Given the description of an element on the screen output the (x, y) to click on. 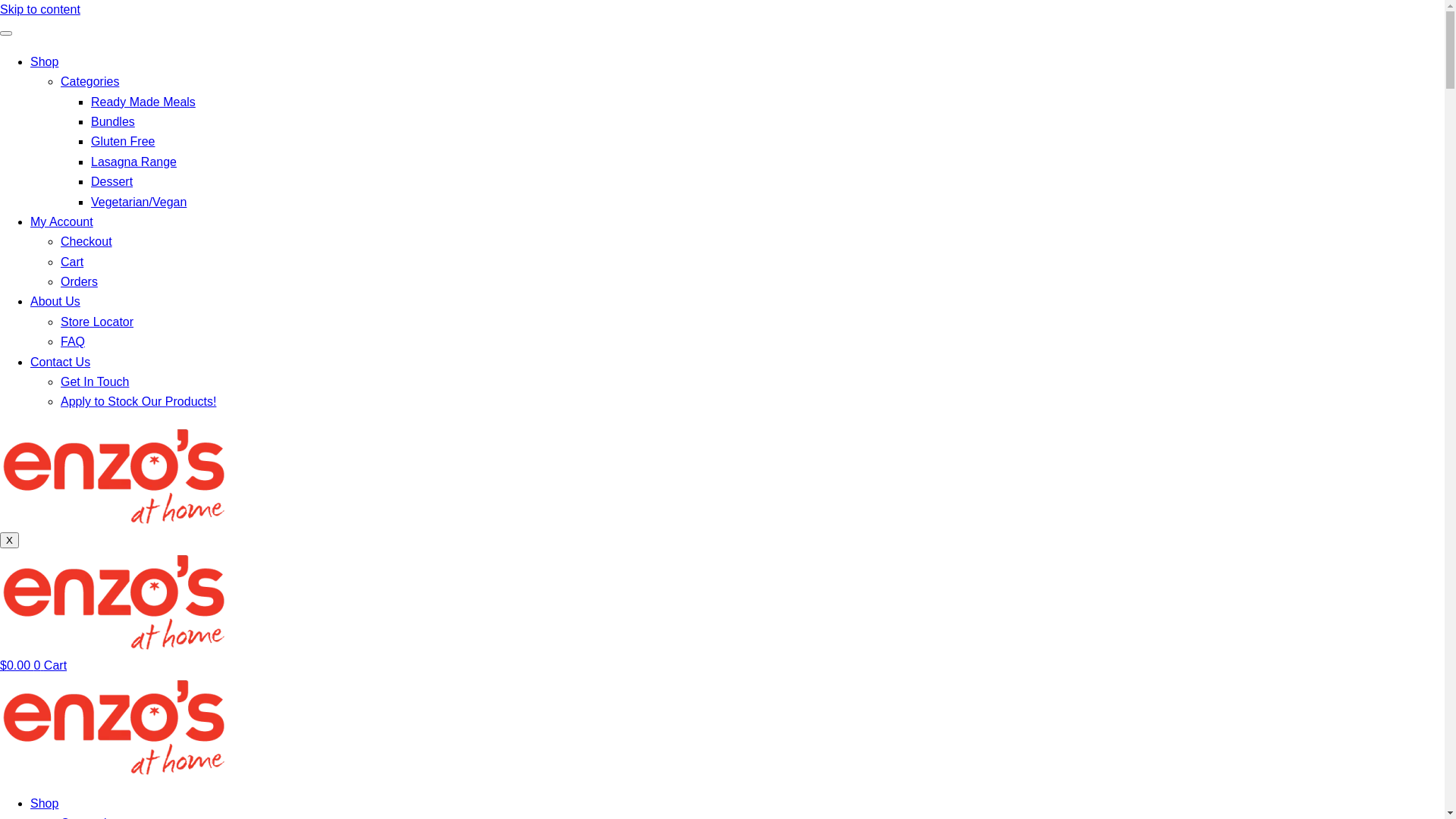
About Us Element type: text (55, 300)
Contact Us Element type: text (60, 361)
Shop Element type: text (44, 803)
Ready Made Meals Element type: text (143, 101)
X Element type: text (9, 540)
Categories Element type: text (89, 81)
Orders Element type: text (78, 281)
Lasagna Range Element type: text (133, 161)
Vegetarian/Vegan Element type: text (138, 201)
Enzos at Home Logo Element type: hover (113, 599)
$0.00 0 Cart Element type: text (33, 664)
Cart Element type: text (71, 261)
FAQ Element type: text (72, 341)
Shop Element type: text (44, 61)
Dessert Element type: text (111, 181)
Store Locator Element type: text (96, 321)
Apply to Stock Our Products! Element type: text (138, 401)
Get In Touch Element type: text (94, 381)
Checkout Element type: text (86, 241)
Enzos at Home Logo Element type: hover (113, 725)
My Account Element type: text (61, 221)
Bundles Element type: text (112, 121)
Skip to content Element type: text (40, 9)
Gluten Free Element type: text (122, 140)
